Given the description of an element on the screen output the (x, y) to click on. 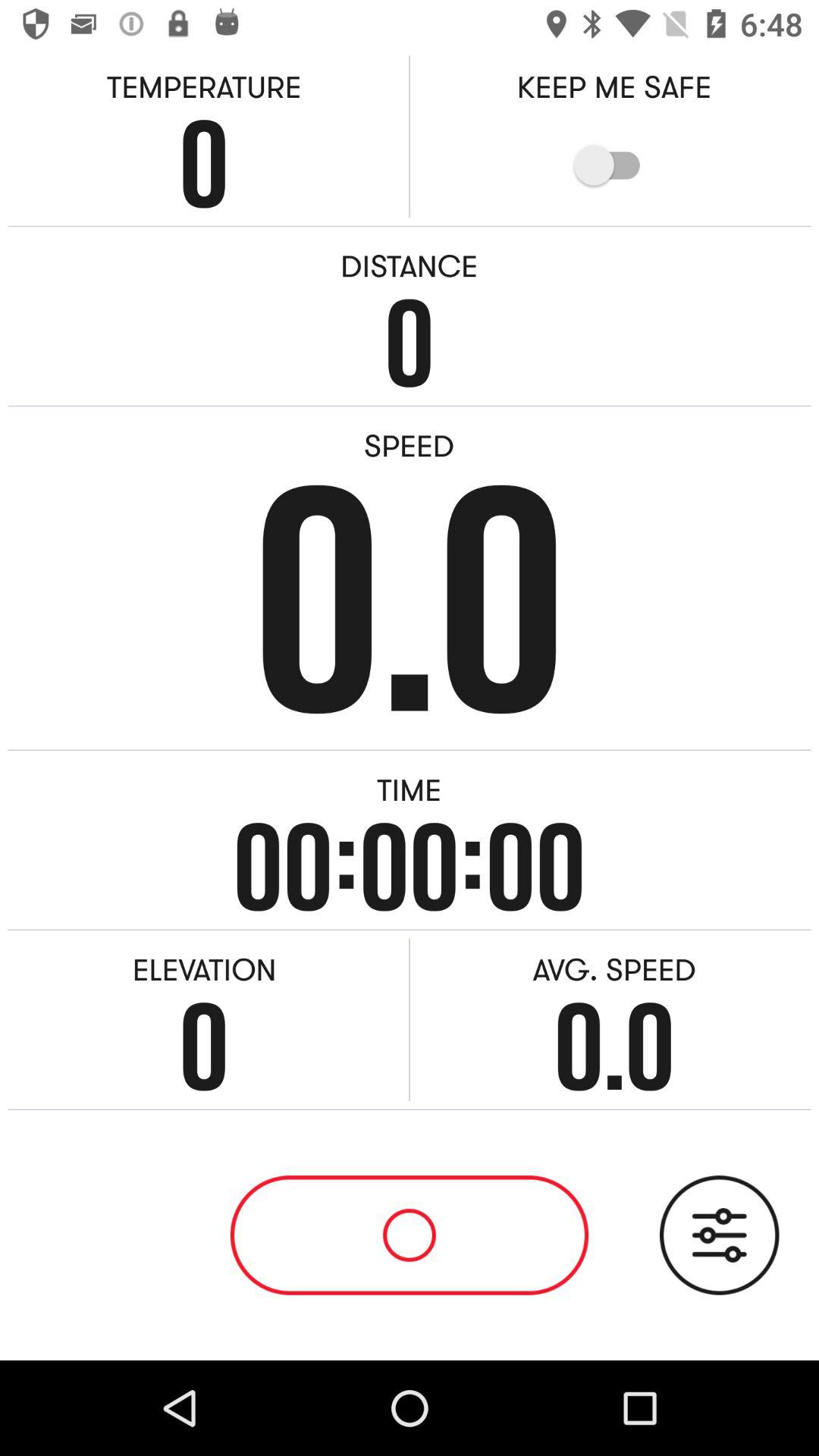
turn off item below the keep me safe item (614, 165)
